Given the description of an element on the screen output the (x, y) to click on. 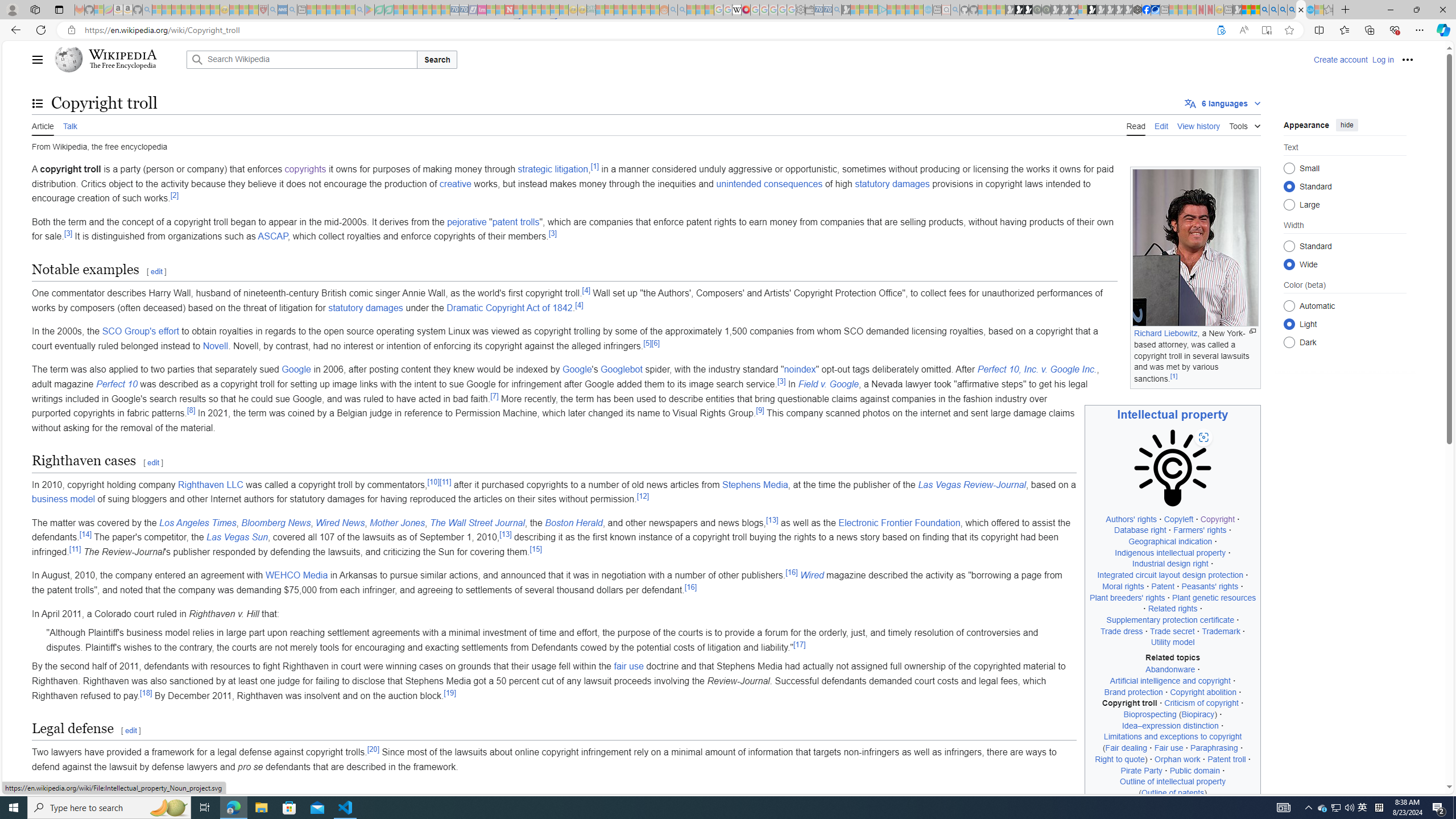
Kinda Frugal - MSN - Sleeping (636, 9)
Copyright (1216, 519)
Log in (1382, 58)
patent trolls (516, 221)
hide (1347, 124)
Plant genetic resources (1214, 596)
